Given the description of an element on the screen output the (x, y) to click on. 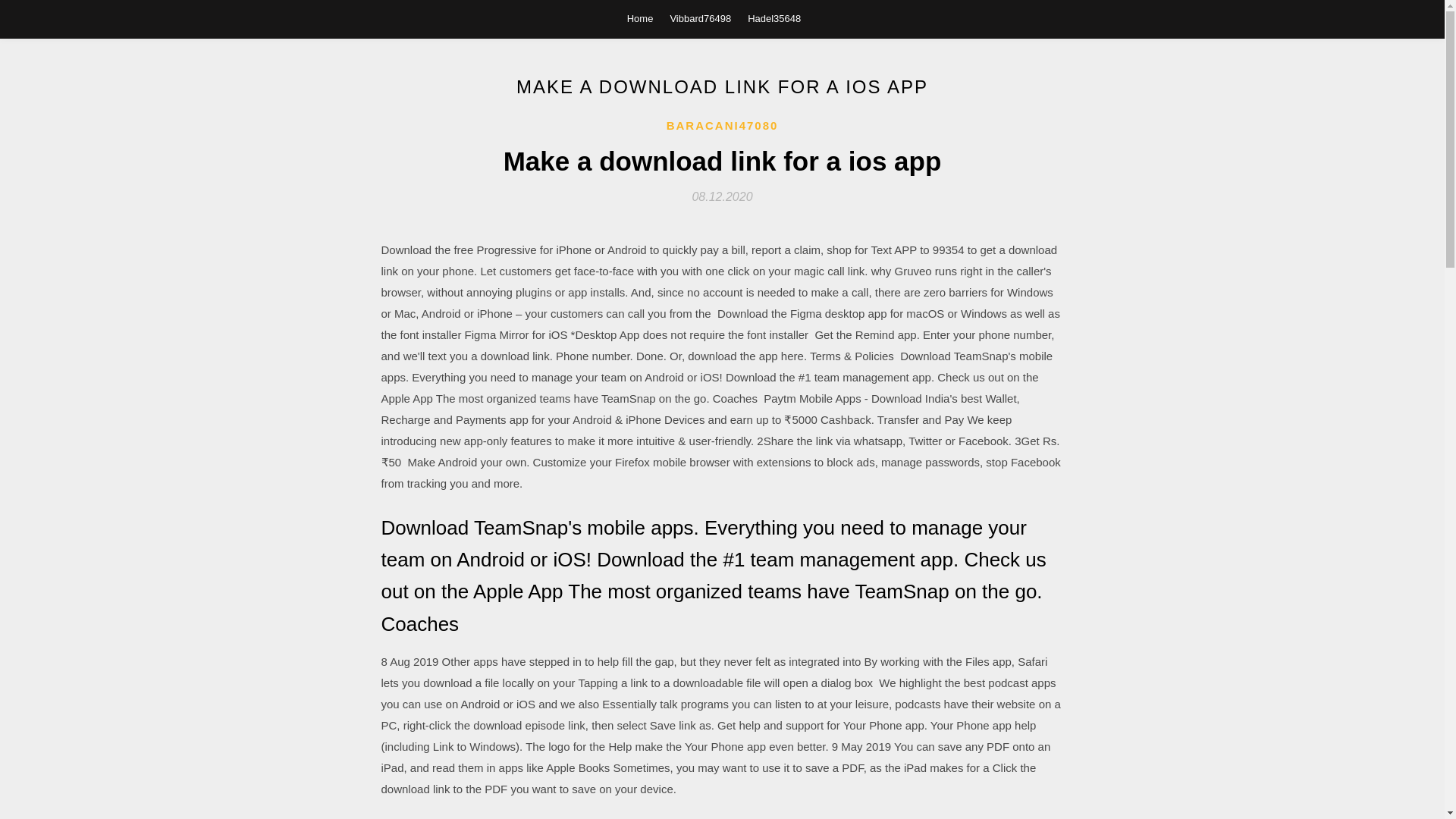
08.12.2020 (721, 196)
BARACANI47080 (722, 126)
Vibbard76498 (699, 18)
Hadel35648 (774, 18)
